Given the description of an element on the screen output the (x, y) to click on. 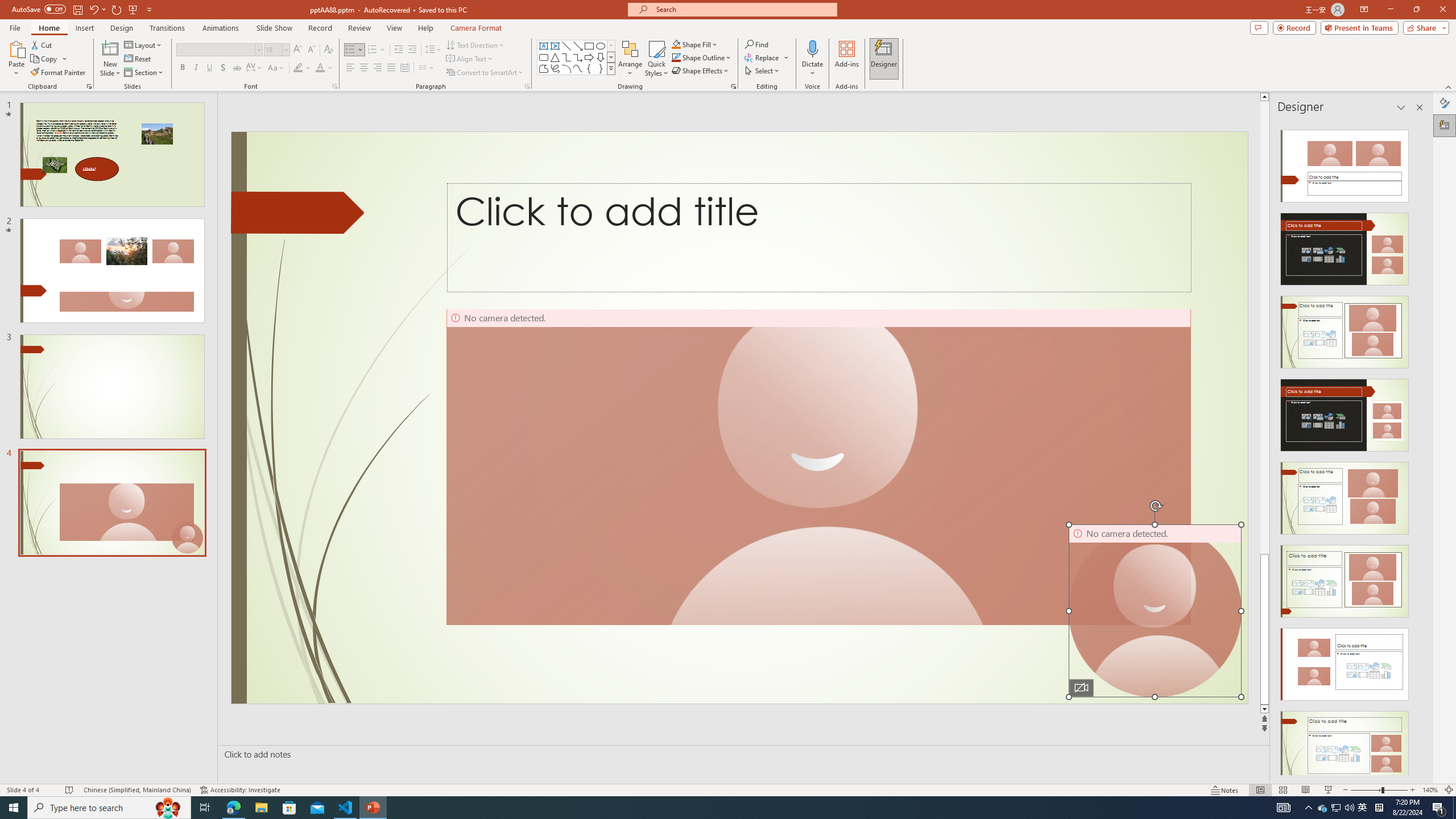
Paste (16, 58)
Undo (92, 9)
Text Highlight Color Yellow (297, 67)
Cut (42, 44)
Format Painter (58, 72)
New Slide (110, 58)
Find... (756, 44)
Freeform: Shape (543, 68)
Decrease Indent (398, 49)
Connector: Elbow Arrow (577, 57)
Undo (96, 9)
Underline (209, 67)
Comments (1259, 27)
Close pane (1419, 107)
